Given the description of an element on the screen output the (x, y) to click on. 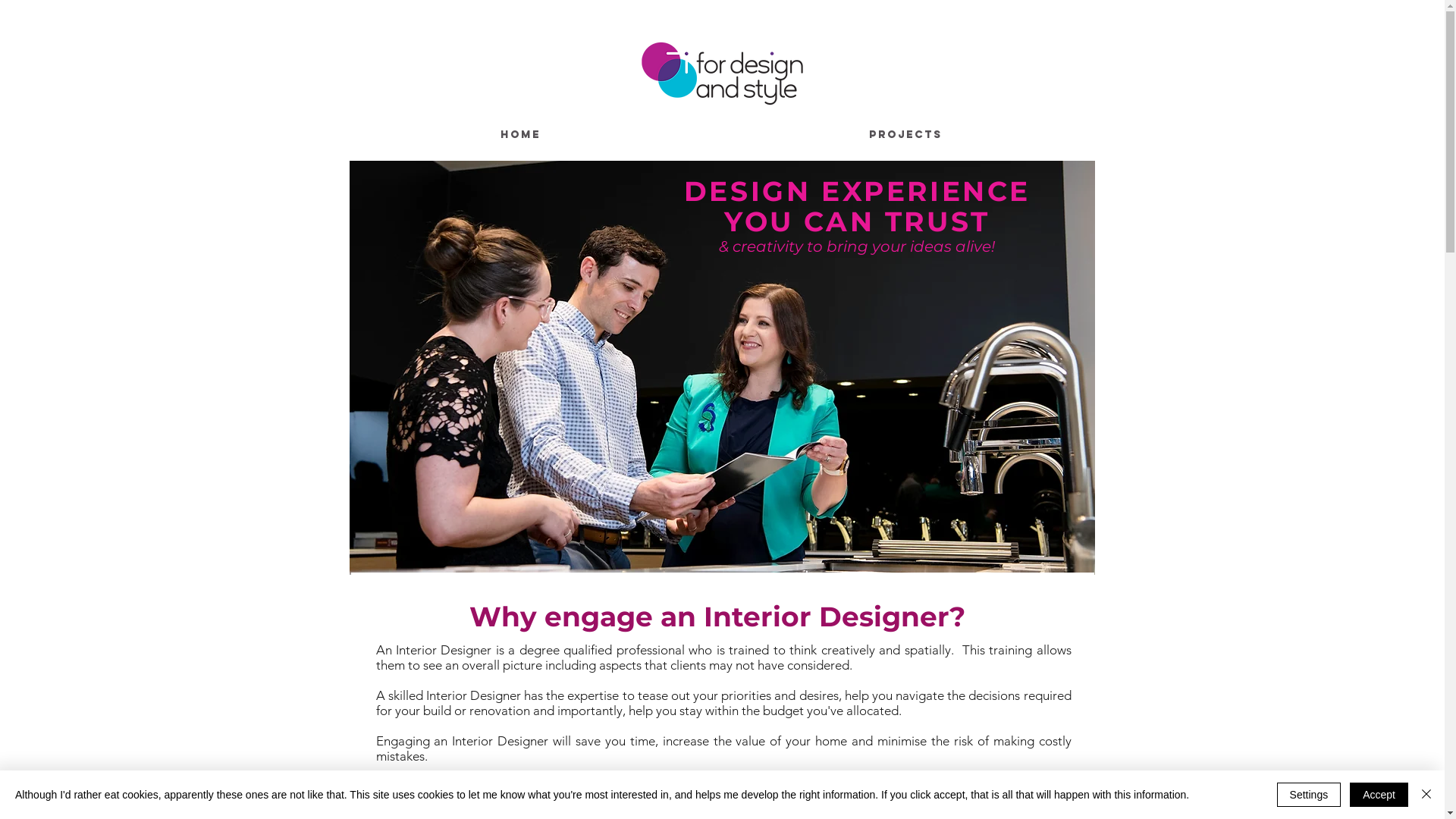
HOME Element type: text (519, 134)
Accept Element type: text (1378, 794)
PROJECTS Element type: text (906, 134)
Settings Element type: text (1309, 794)
